Given the description of an element on the screen output the (x, y) to click on. 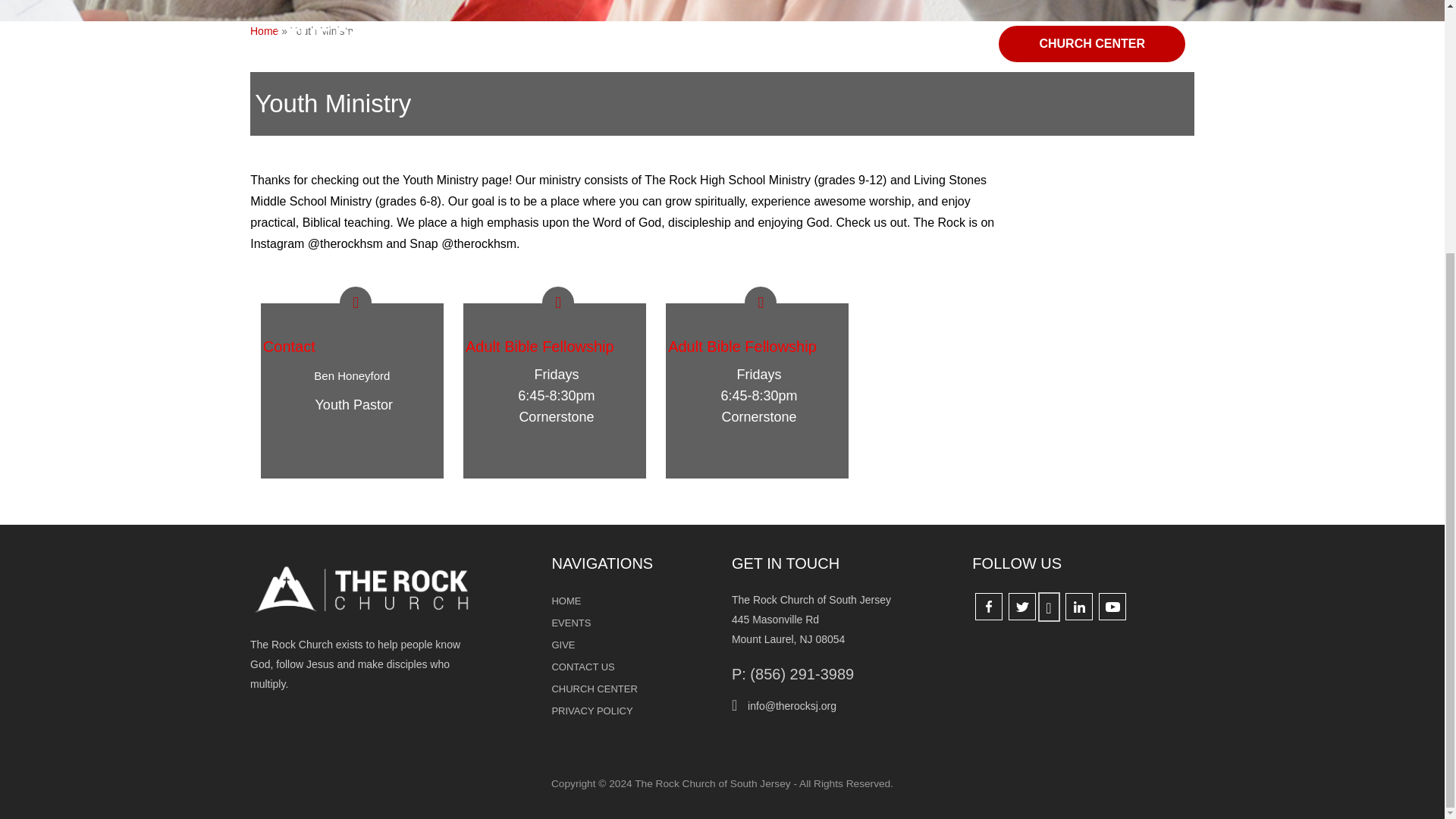
GIVE (632, 644)
Home (264, 30)
PRIVACY POLICY (632, 710)
CHURCH CENTER (632, 688)
Ben Honeyford (352, 375)
HOME (632, 600)
EVENTS (632, 622)
CONTACT US (632, 666)
